Given the description of an element on the screen output the (x, y) to click on. 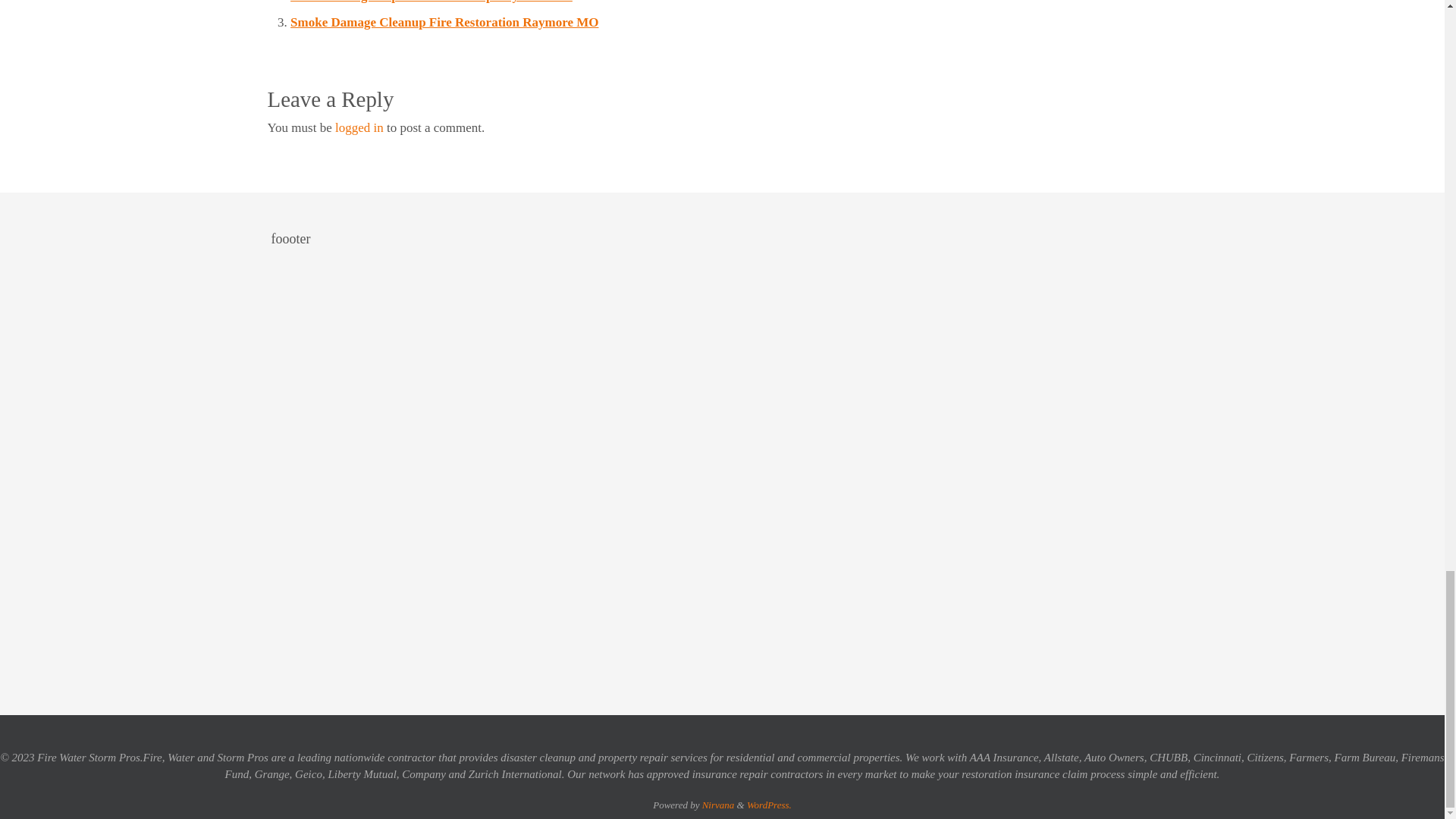
Smoke Damage Cleanup Fire Restoration Raymore MO (443, 22)
logged in (359, 127)
Nirvana Theme by Cryout Creations (718, 804)
Storm Damage Repairs and Cleanup Raymore MO (430, 1)
DMCA.com Protection Status (954, 660)
Smoke Damage Cleanup Fire Restoration Raymore MO (443, 22)
Storm Damage Repairs and Cleanup Raymore MO (430, 1)
Semantic Personal Publishing Platform (769, 804)
